Given the description of an element on the screen output the (x, y) to click on. 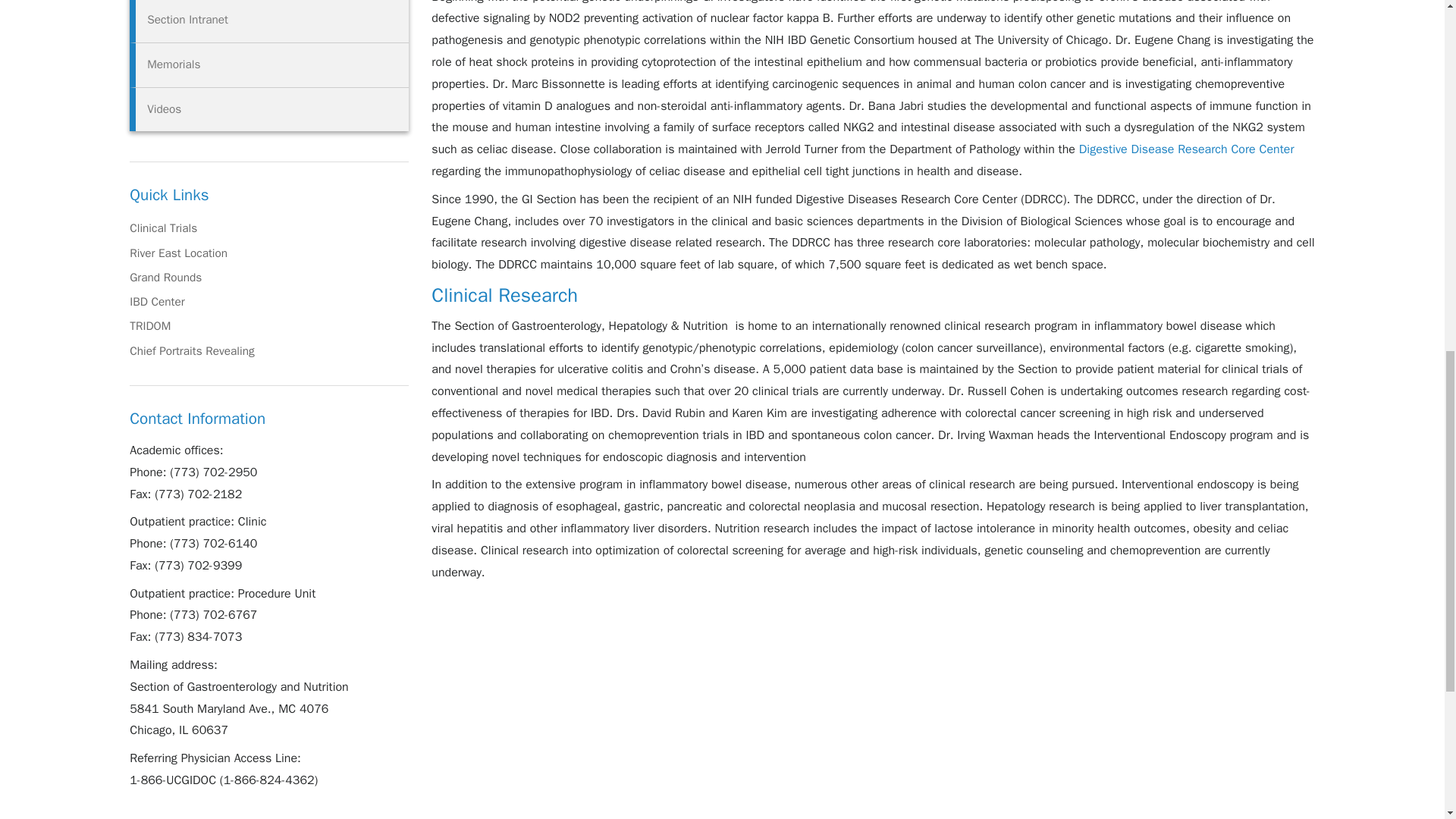
Digestive Disease Research Core Center (1186, 149)
